Given the description of an element on the screen output the (x, y) to click on. 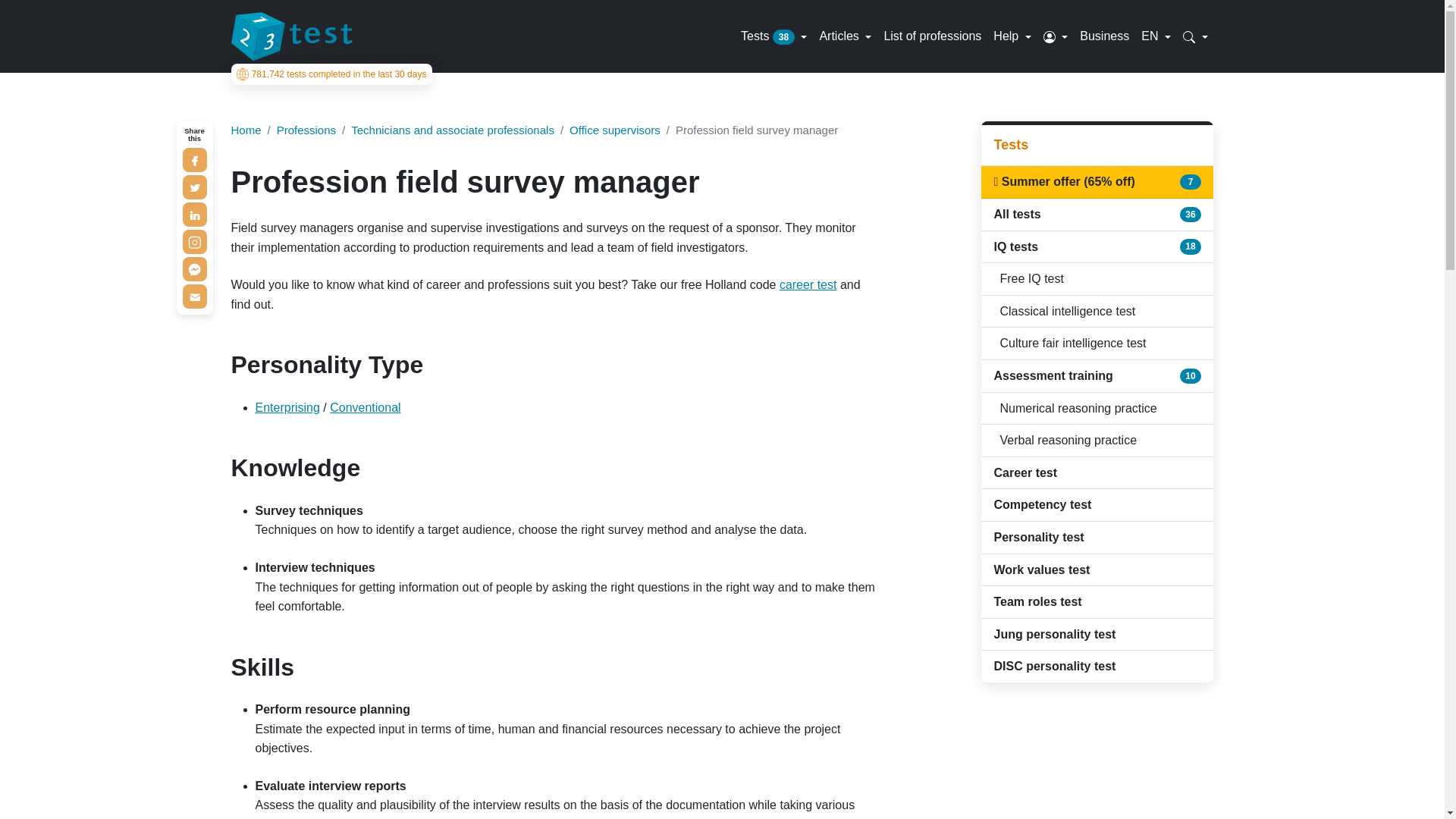
Share on Twitter (194, 187)
Email (194, 296)
Help (1011, 36)
Articles (844, 36)
Tests 38 (773, 36)
Share on LinkedIn (194, 214)
Career test (807, 284)
Share on Facebook messenger (194, 269)
Instagram (194, 241)
List of professions (932, 36)
